Given the description of an element on the screen output the (x, y) to click on. 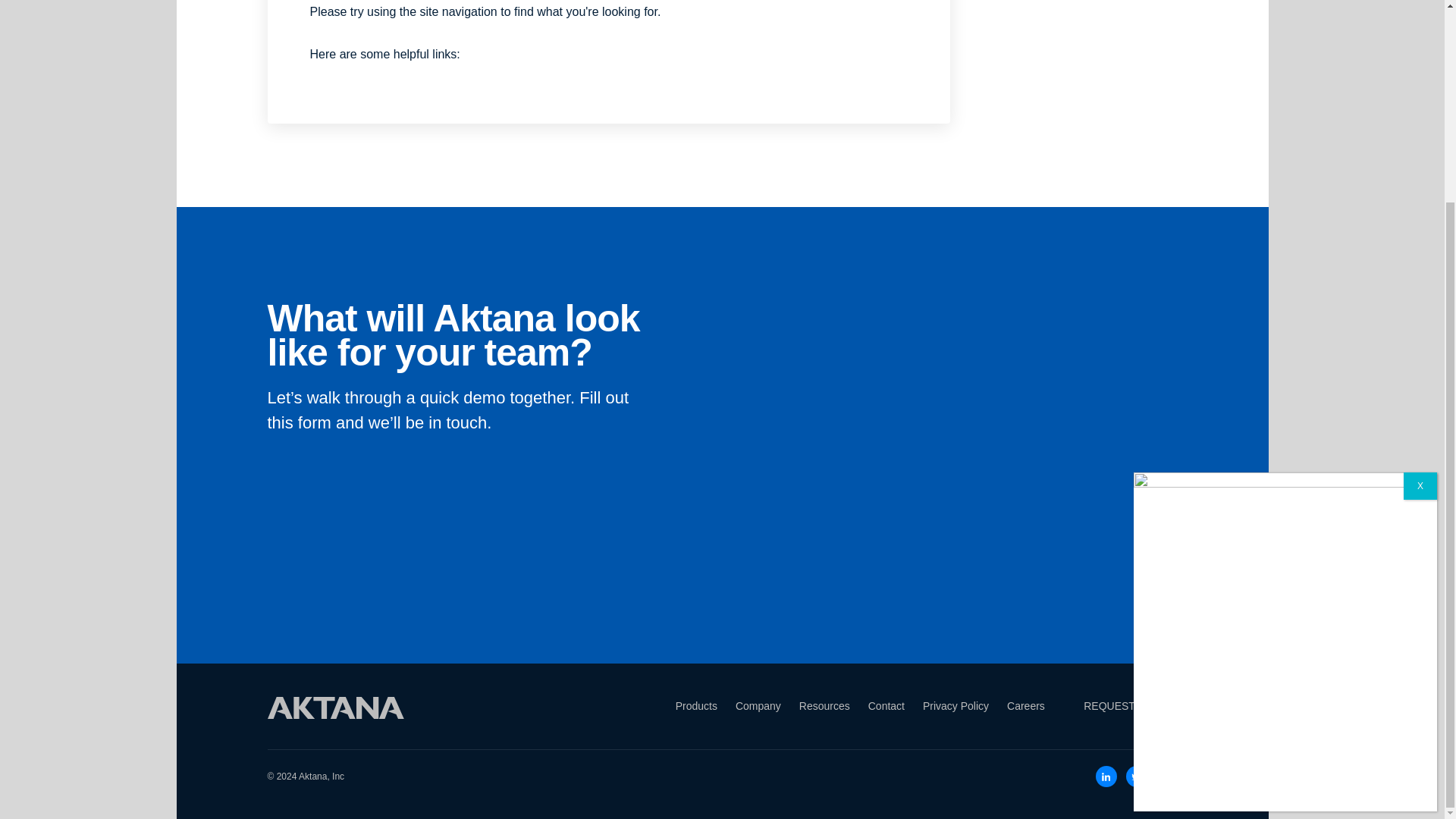
Products (696, 706)
Company (757, 706)
